Given the description of an element on the screen output the (x, y) to click on. 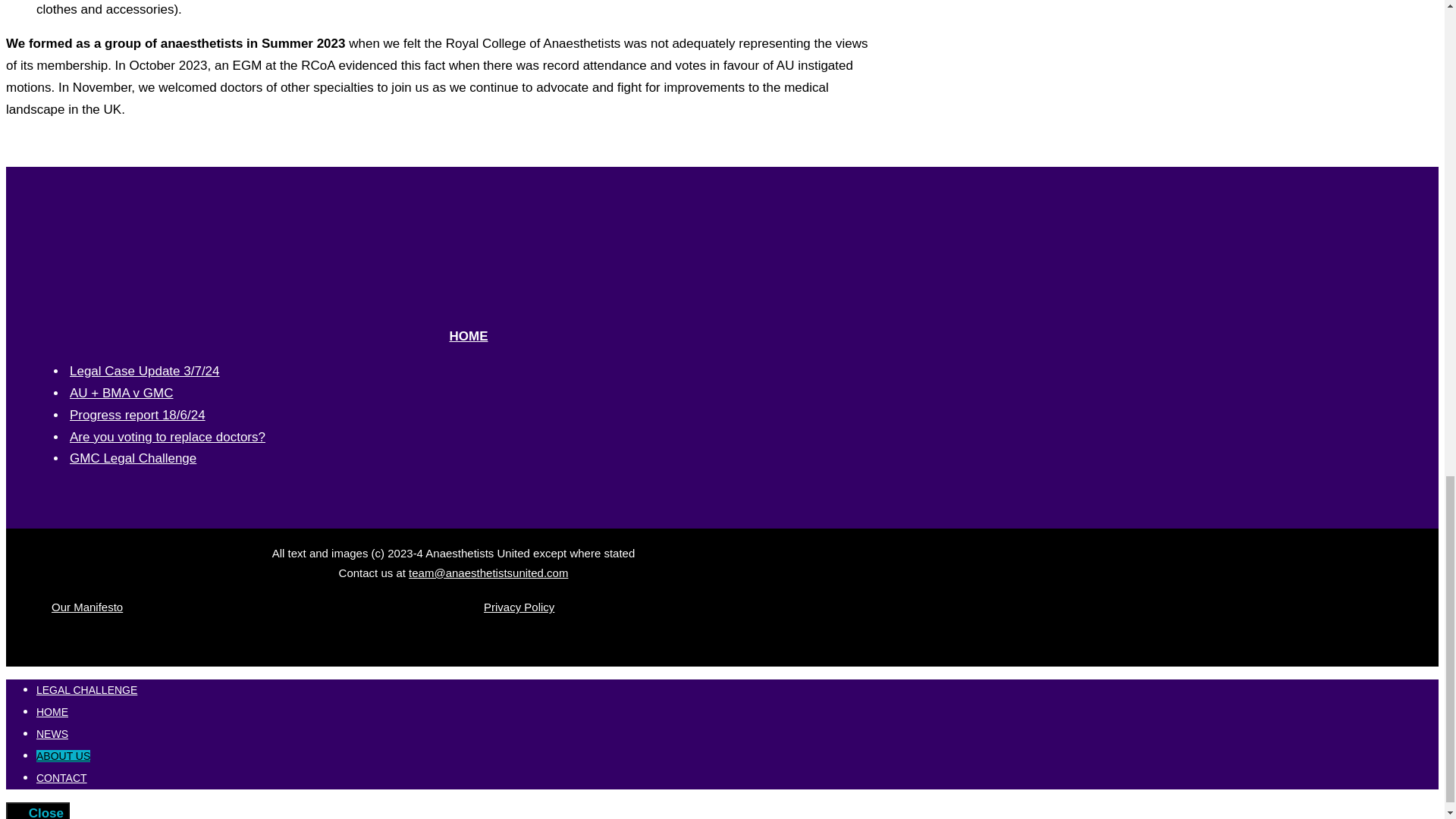
HOME (52, 711)
NEWS (52, 734)
HOME (467, 336)
Scroll back to top (1406, 369)
GMC Legal Challenge (132, 458)
Are you voting to replace doctors? (166, 436)
ABOUT US (63, 756)
Privacy Policy (518, 606)
Our Manifesto (86, 606)
LEGAL CHALLENGE (86, 689)
CONTACT (61, 777)
